Given the description of an element on the screen output the (x, y) to click on. 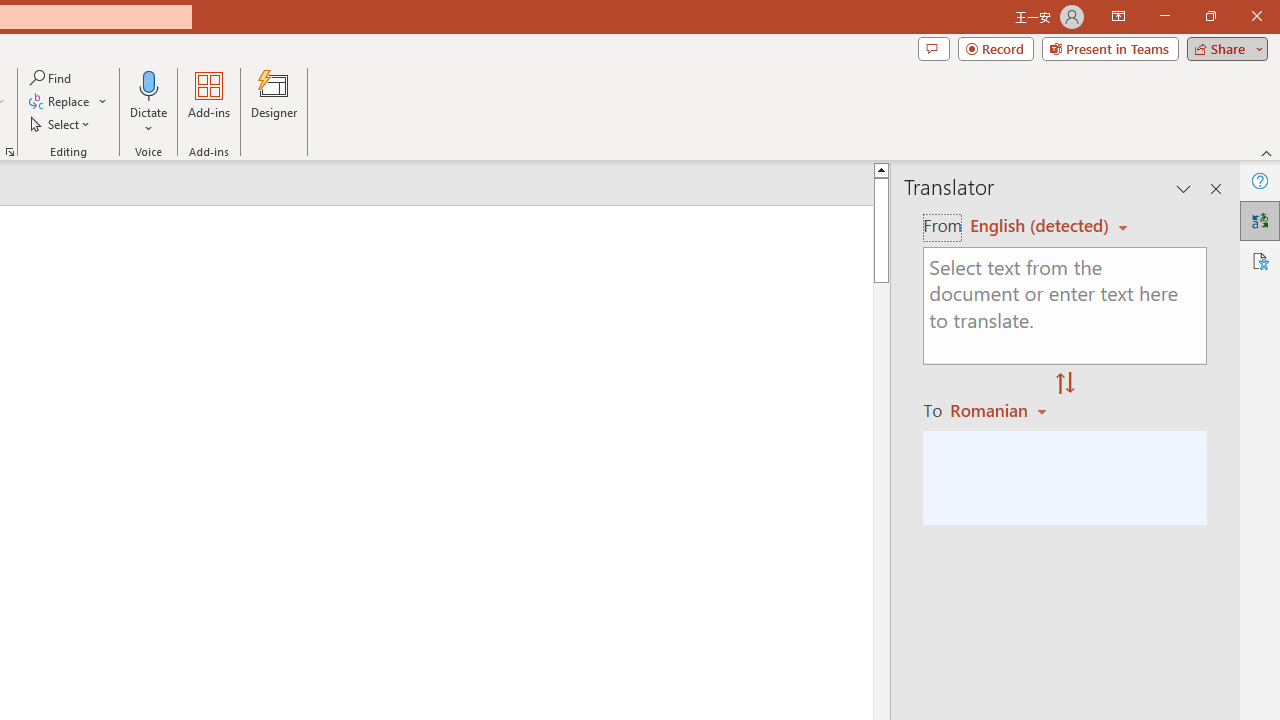
Czech (detected) (1039, 225)
Translator (1260, 220)
Romanian (1001, 409)
